Given the description of an element on the screen output the (x, y) to click on. 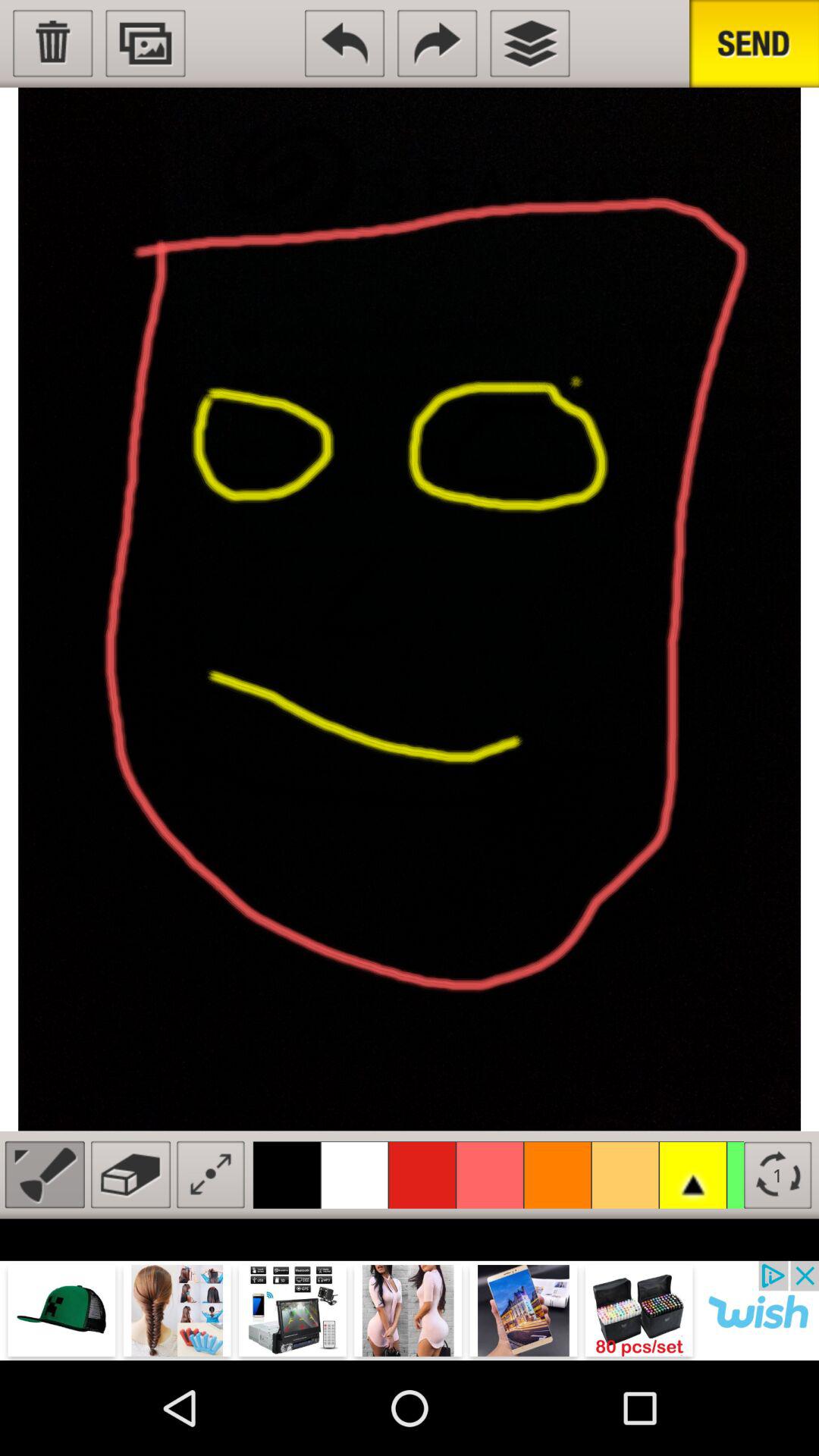
delete the picture (52, 43)
